Given the description of an element on the screen output the (x, y) to click on. 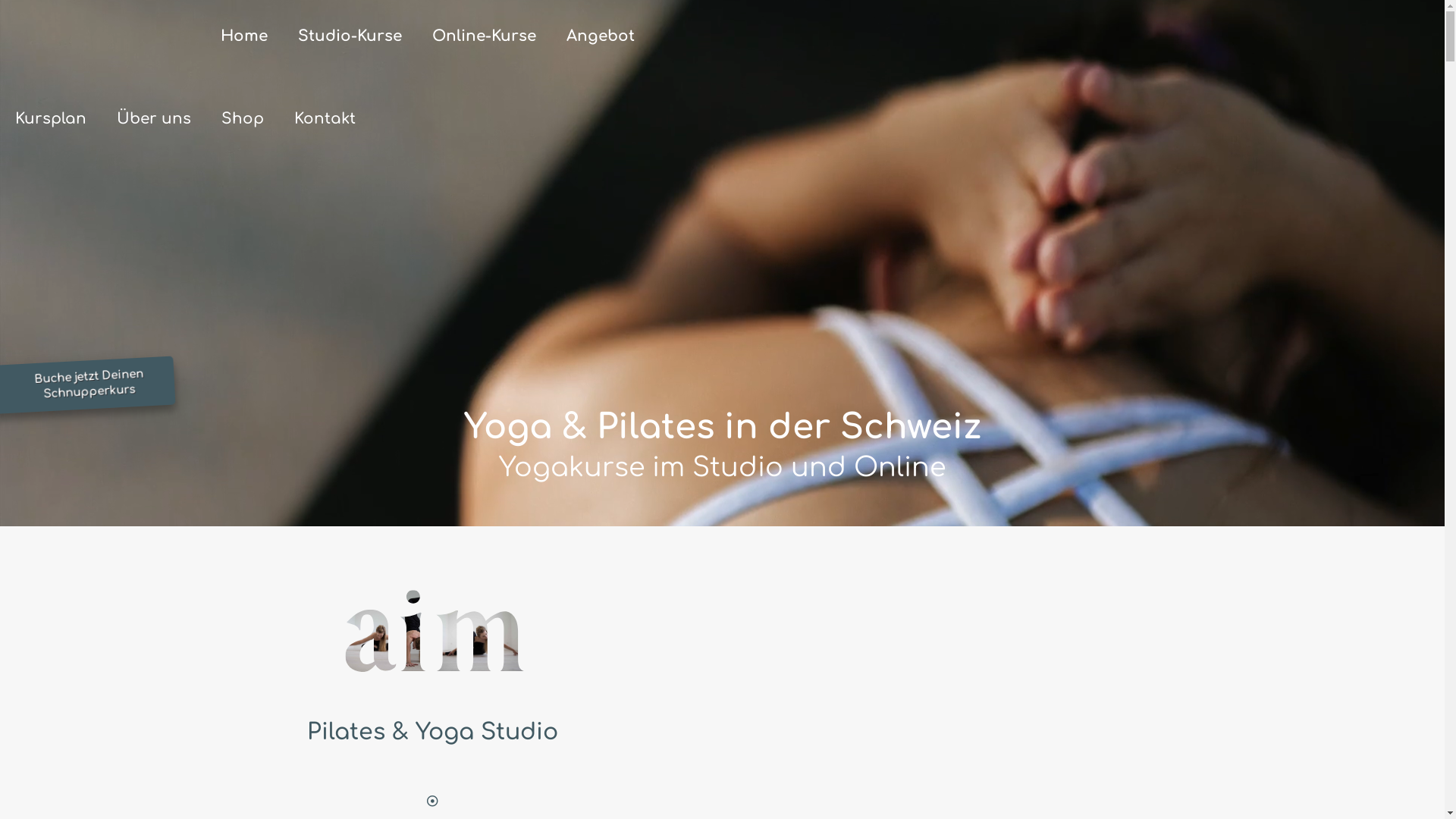
Zum Inhalt springen Element type: text (55, 8)
Shop Element type: text (242, 118)
Studio-Kurse Element type: text (349, 36)
Kontakt Element type: text (324, 118)
Online-Kurse Element type: text (484, 36)
Home Element type: text (243, 36)
Angebot Element type: text (600, 36)
Kursplan Element type: text (50, 118)
